Given the description of an element on the screen output the (x, y) to click on. 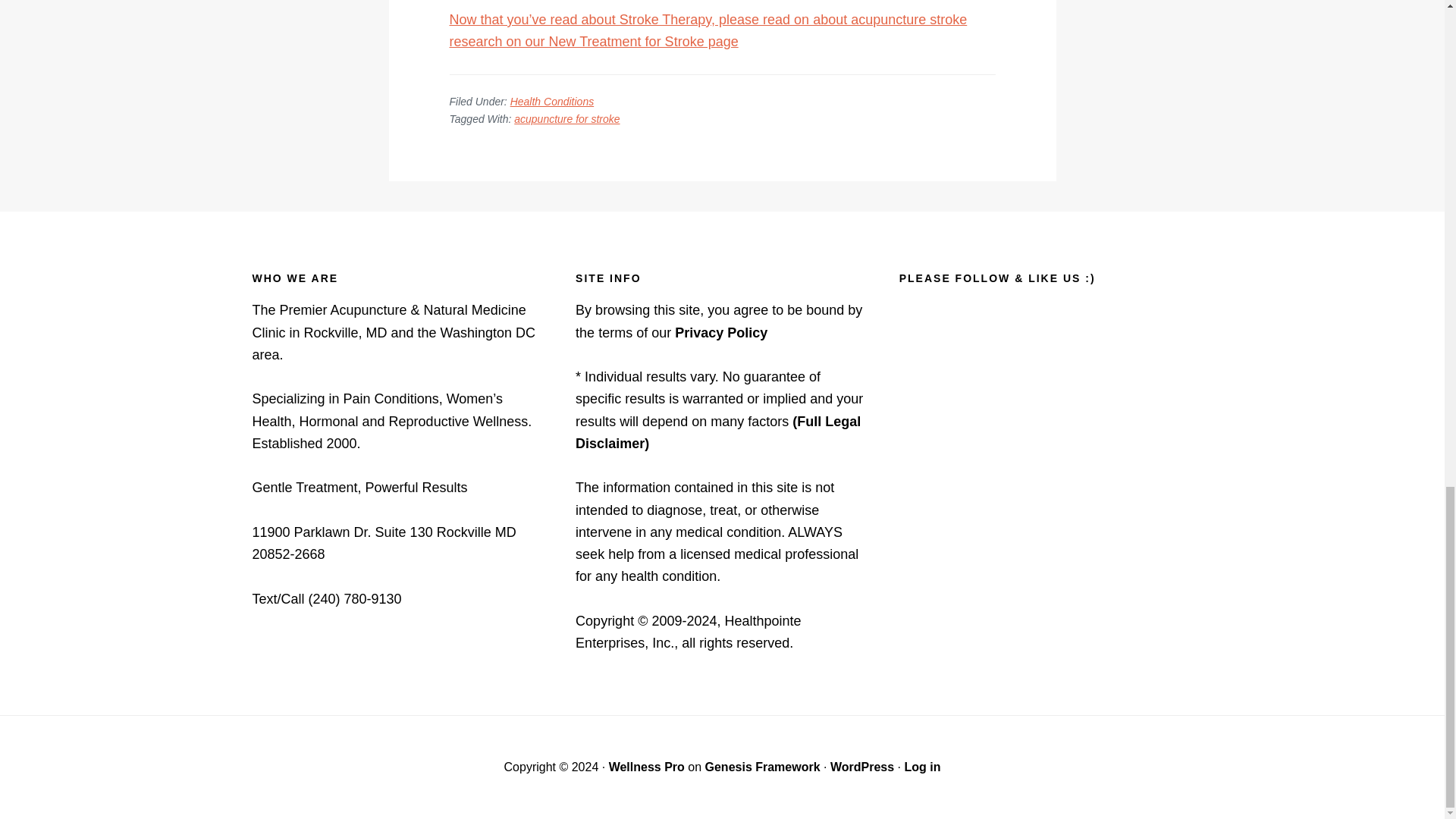
acupuncture for stroke (566, 119)
Health Conditions (552, 101)
Privacy Policy (721, 332)
